Given the description of an element on the screen output the (x, y) to click on. 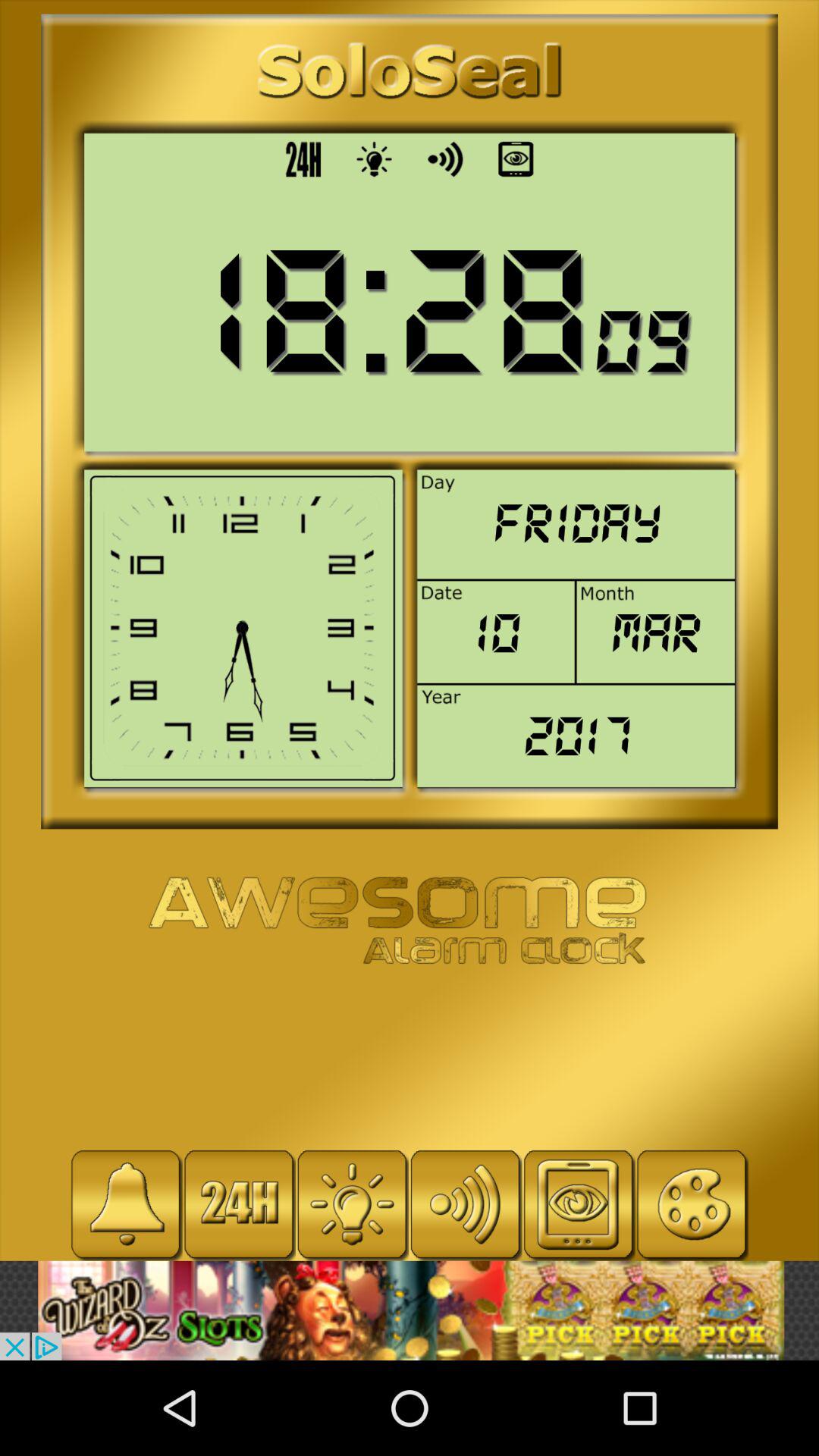
temperature (351, 1203)
